Given the description of an element on the screen output the (x, y) to click on. 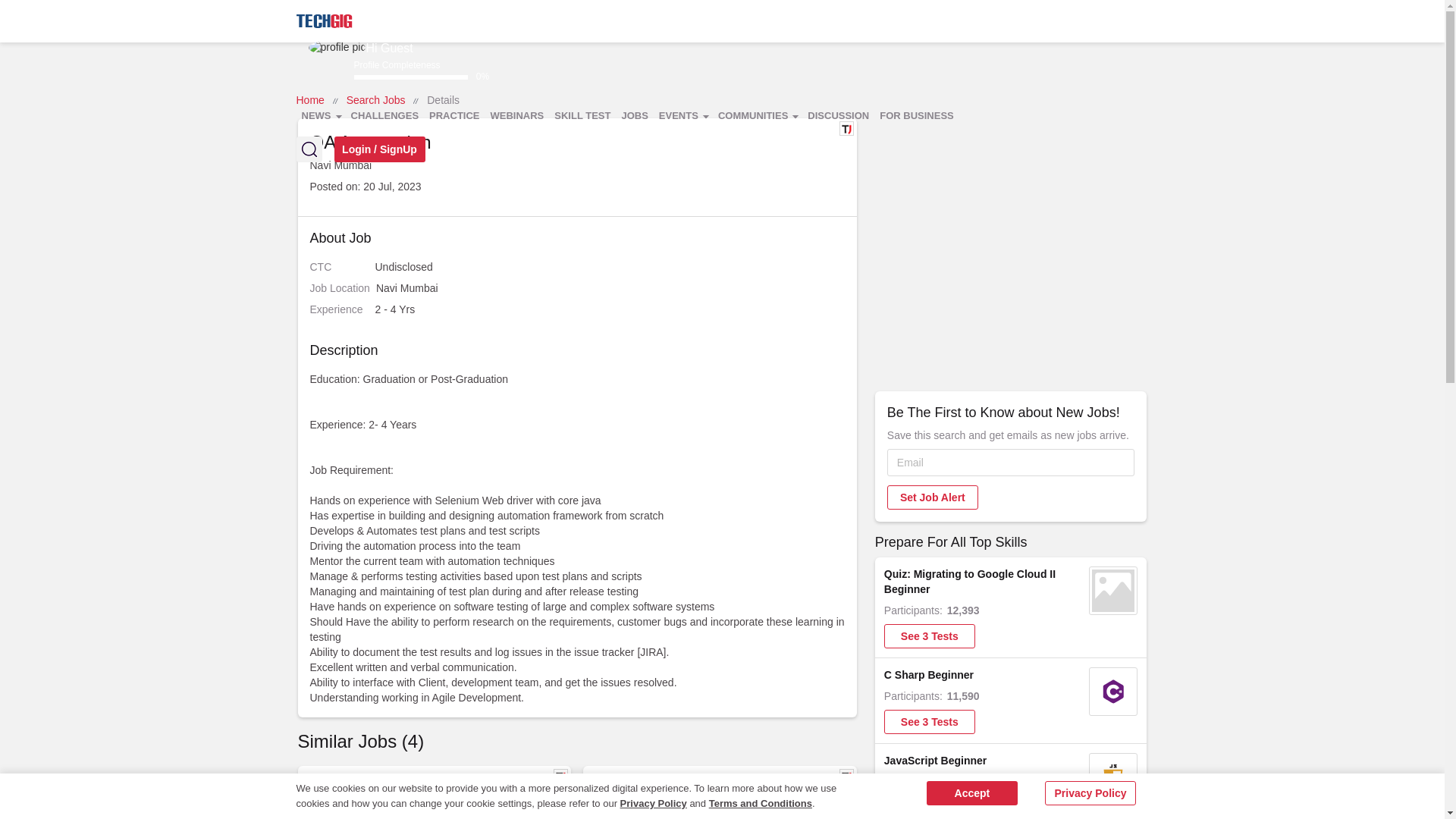
3rd party ad content (999, 212)
JOBS (633, 115)
COMMUNITIES (757, 115)
PRACTICE (453, 115)
WEBINARS (517, 115)
SKILL TEST (581, 115)
CHALLENGES (385, 115)
NEWS (320, 115)
EVENTS (683, 115)
